Given the description of an element on the screen output the (x, y) to click on. 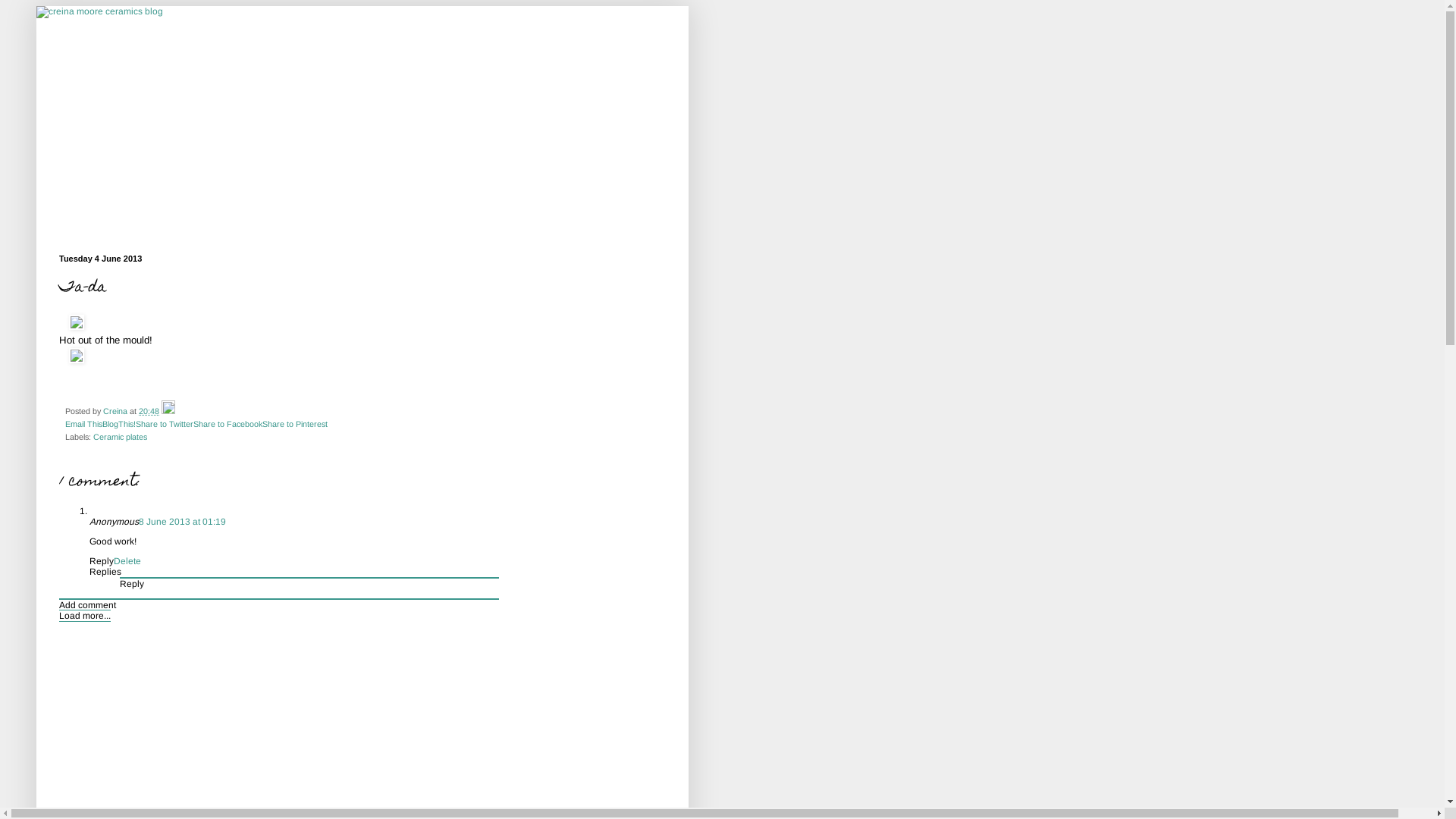
Replies Element type: text (105, 571)
Creina Element type: text (116, 410)
Load more... Element type: text (84, 615)
Reply Element type: text (131, 583)
Share to Twitter Element type: text (164, 423)
Email This Element type: text (83, 423)
20:48 Element type: text (148, 410)
Share to Pinterest Element type: text (294, 423)
Delete Element type: text (127, 560)
BlogThis! Element type: text (118, 423)
Edit Post Element type: hover (168, 410)
8 June 2013 at 01:19 Element type: text (181, 521)
Add comment Element type: text (87, 604)
Reply Element type: text (101, 560)
Ceramic plates Element type: text (120, 436)
Share to Facebook Element type: text (227, 423)
